Given the description of an element on the screen output the (x, y) to click on. 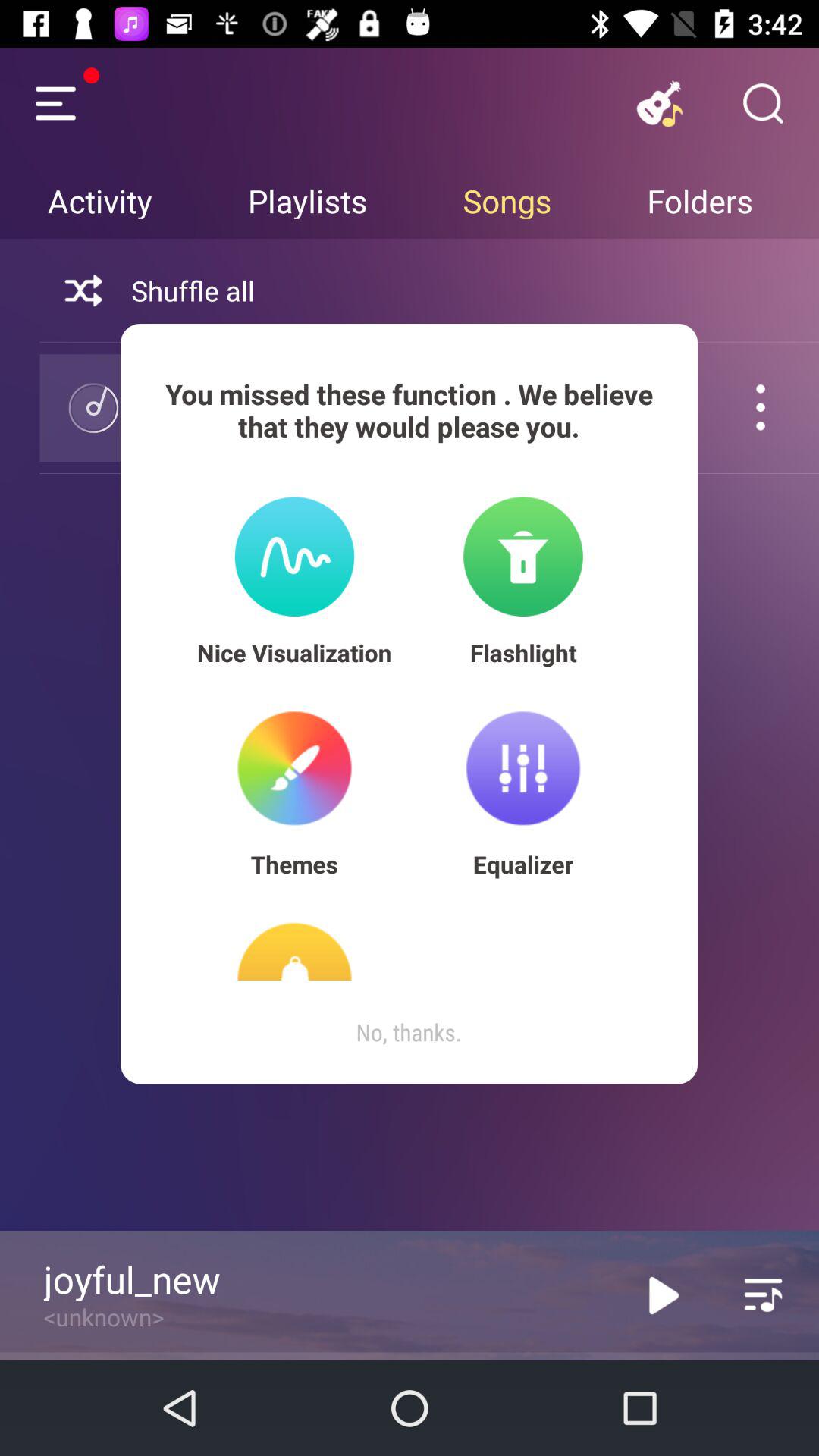
turn on the icon next to the flashlight (294, 652)
